Given the description of an element on the screen output the (x, y) to click on. 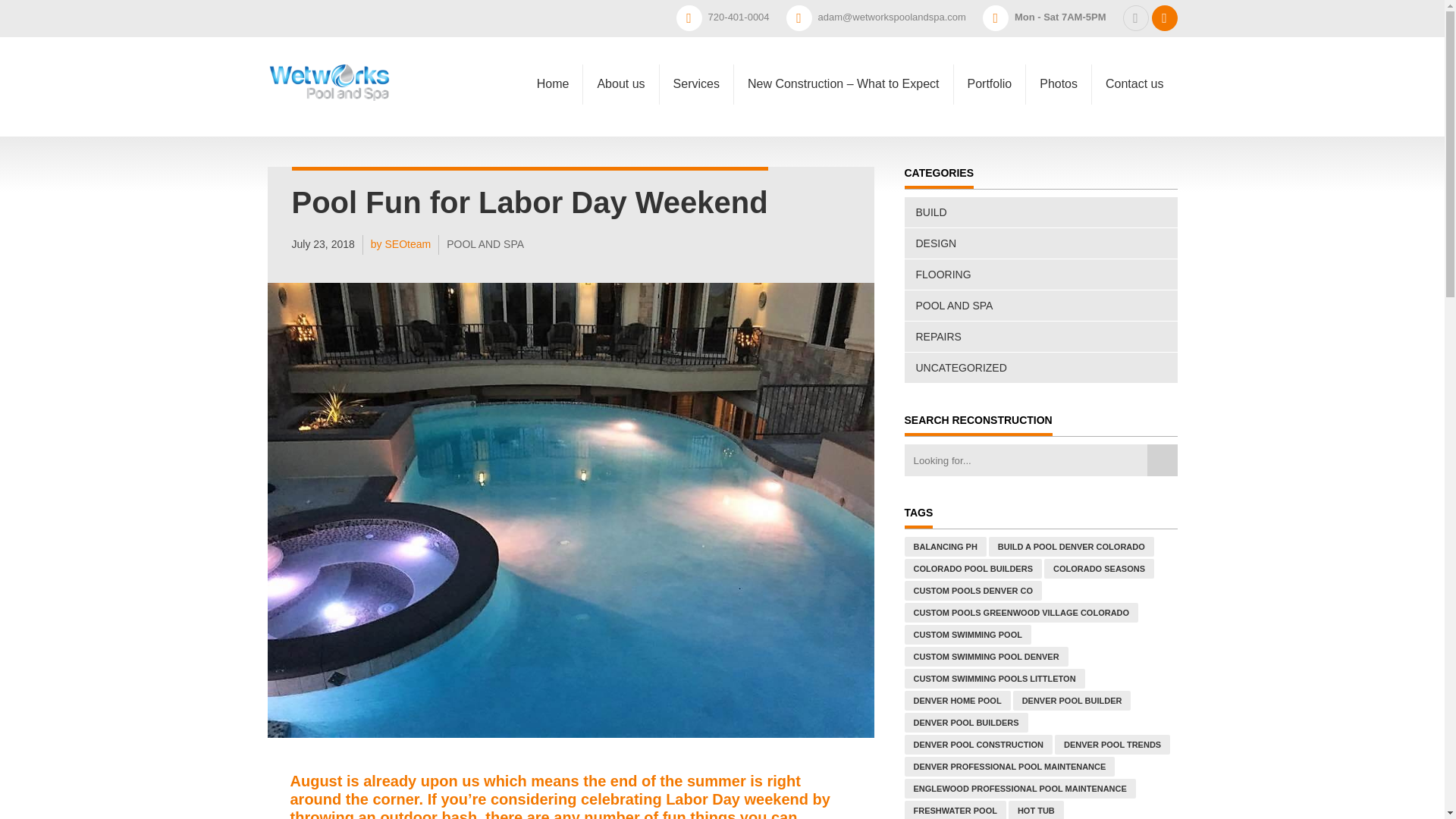
Services (696, 44)
Home (552, 26)
POOL AND SPA (477, 244)
FLOORING (1040, 274)
Photos (1058, 60)
BUILD (1040, 212)
POOL AND SPA (1040, 305)
BUILD A POOL DENVER COLORADO (1071, 546)
DESIGN (1040, 243)
COLORADO SEASONS (1098, 568)
About us (620, 33)
by SEOteam (392, 244)
COLORADO POOL BUILDERS (972, 568)
Portfolio (989, 56)
BALANCING PH (944, 546)
